Given the description of an element on the screen output the (x, y) to click on. 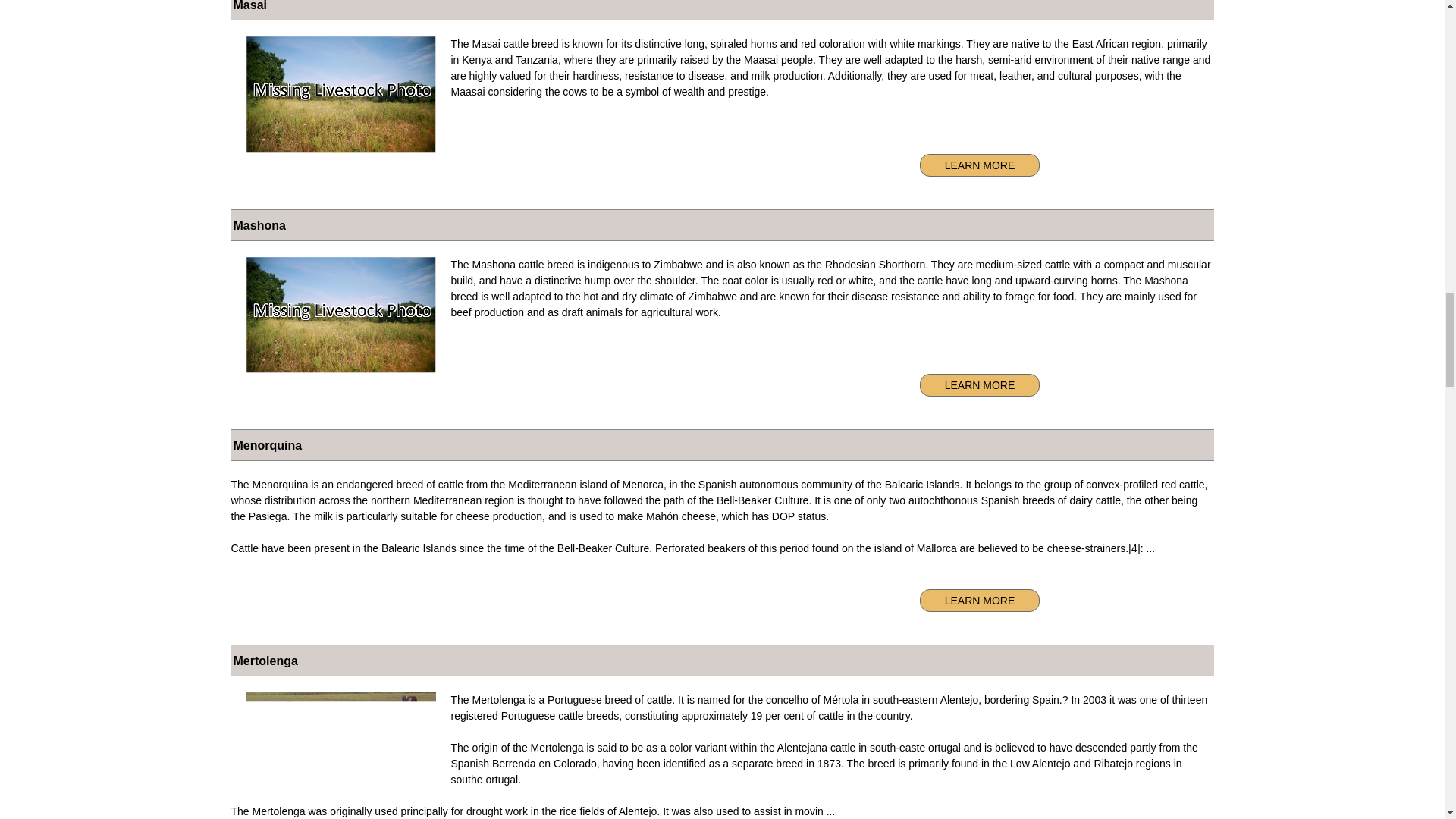
LEARN MORE (980, 384)
LEARN MORE (980, 164)
LEARN MORE (980, 599)
